Given the description of an element on the screen output the (x, y) to click on. 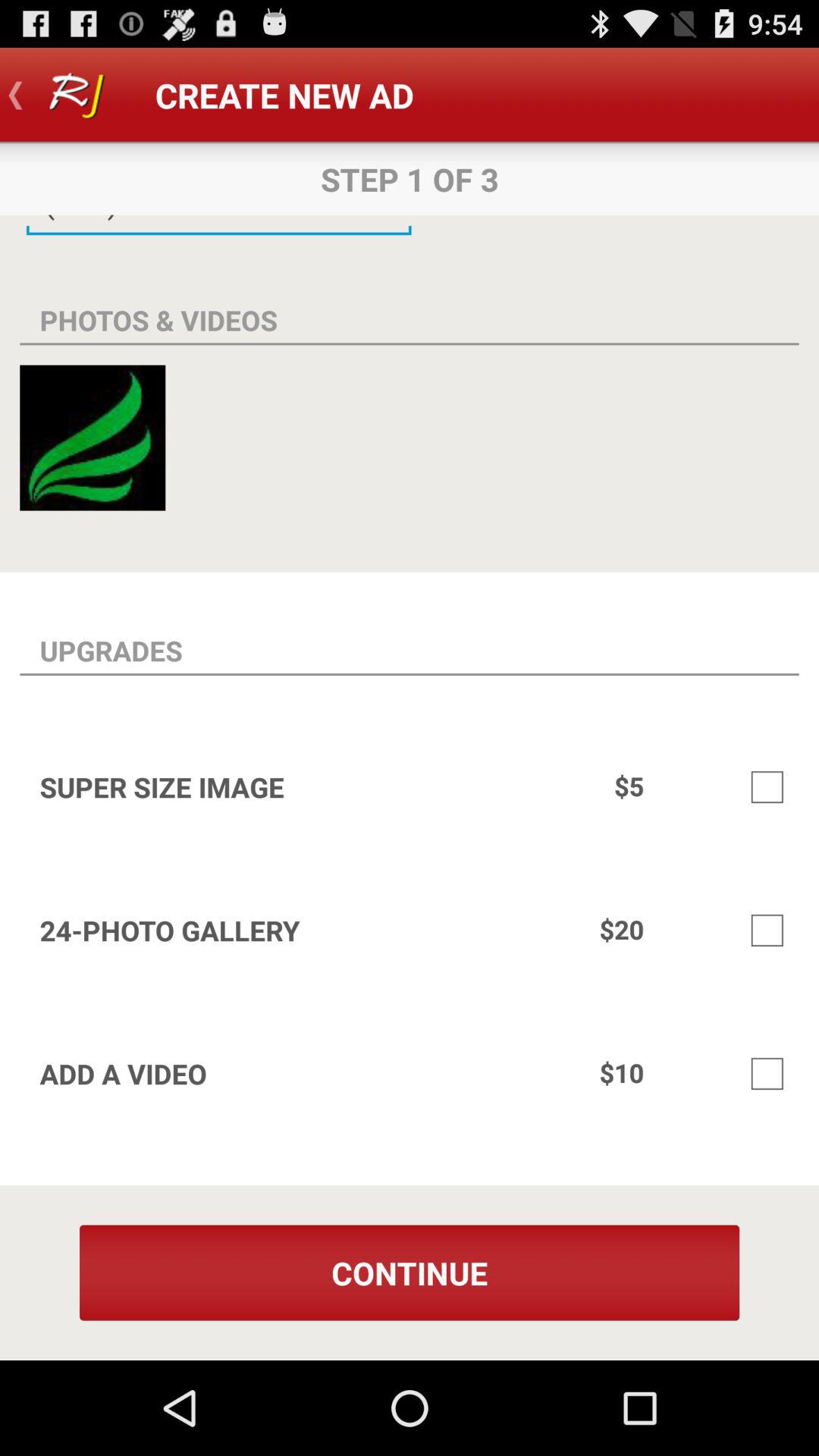
select checkbox (767, 930)
